Given the description of an element on the screen output the (x, y) to click on. 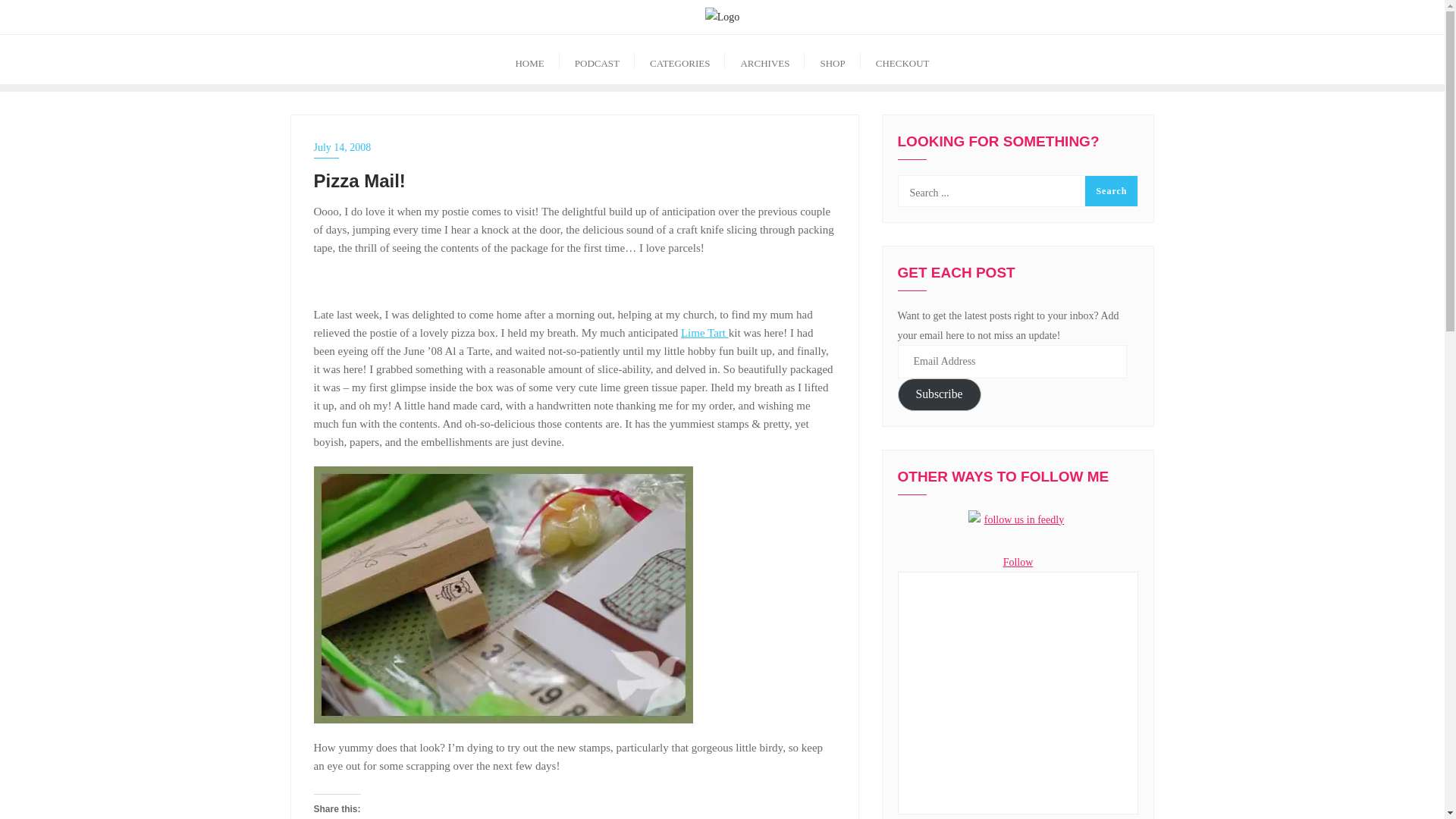
PODCAST (596, 59)
July 14, 2008 (574, 147)
CATEGORIES (679, 59)
Search (1110, 191)
CHECKOUT (902, 59)
Lime Tart (705, 332)
Subscribe (939, 394)
Search (1110, 191)
ARCHIVES (765, 59)
Follow (1018, 562)
